Given the description of an element on the screen output the (x, y) to click on. 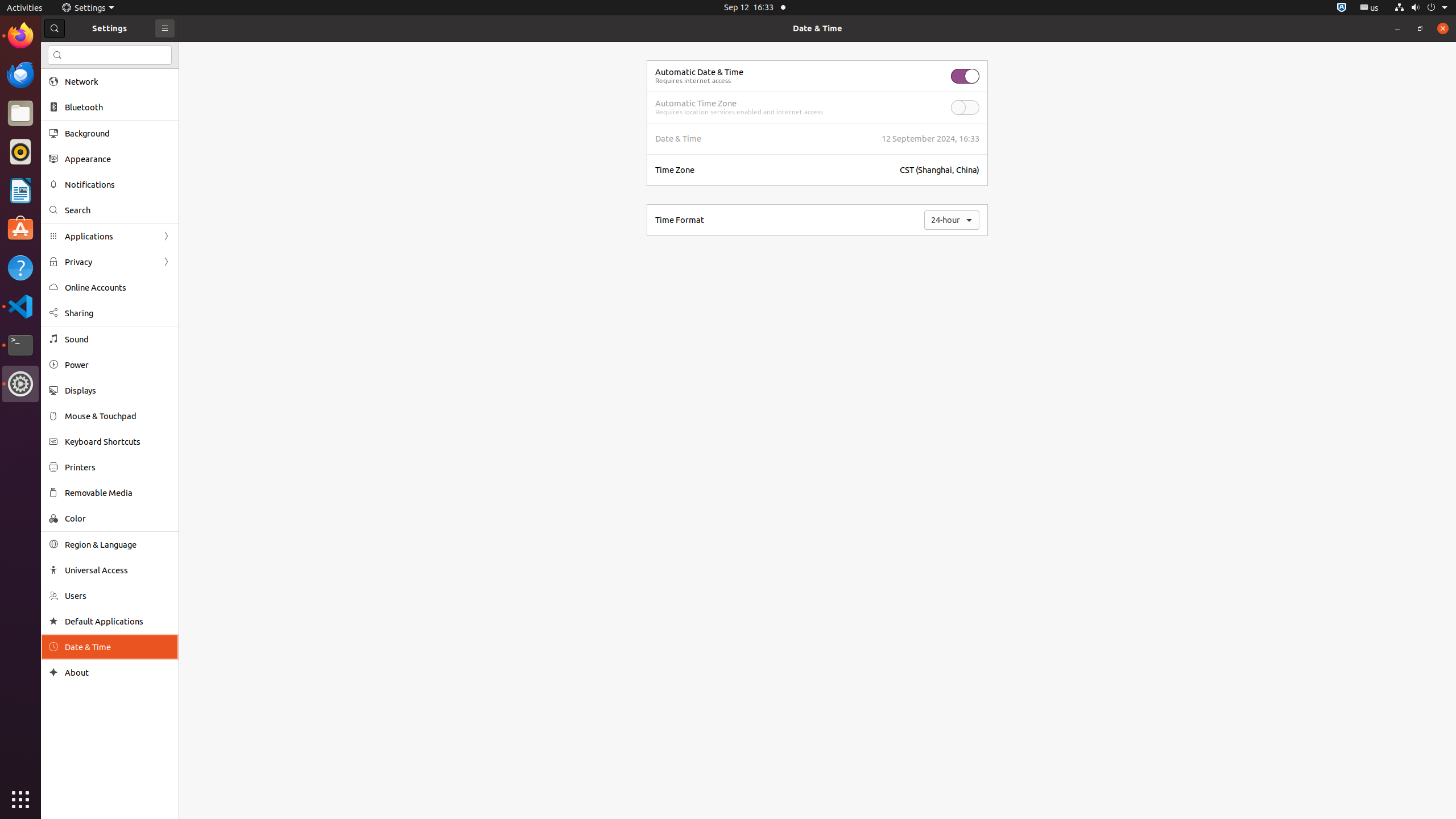
Region & Language Element type: label (117, 544)
Default Applications Element type: label (117, 621)
IsaHelpMain.desktop Element type: label (75, 170)
Automatic Date & Time Element type: label (699, 71)
